Given the description of an element on the screen output the (x, y) to click on. 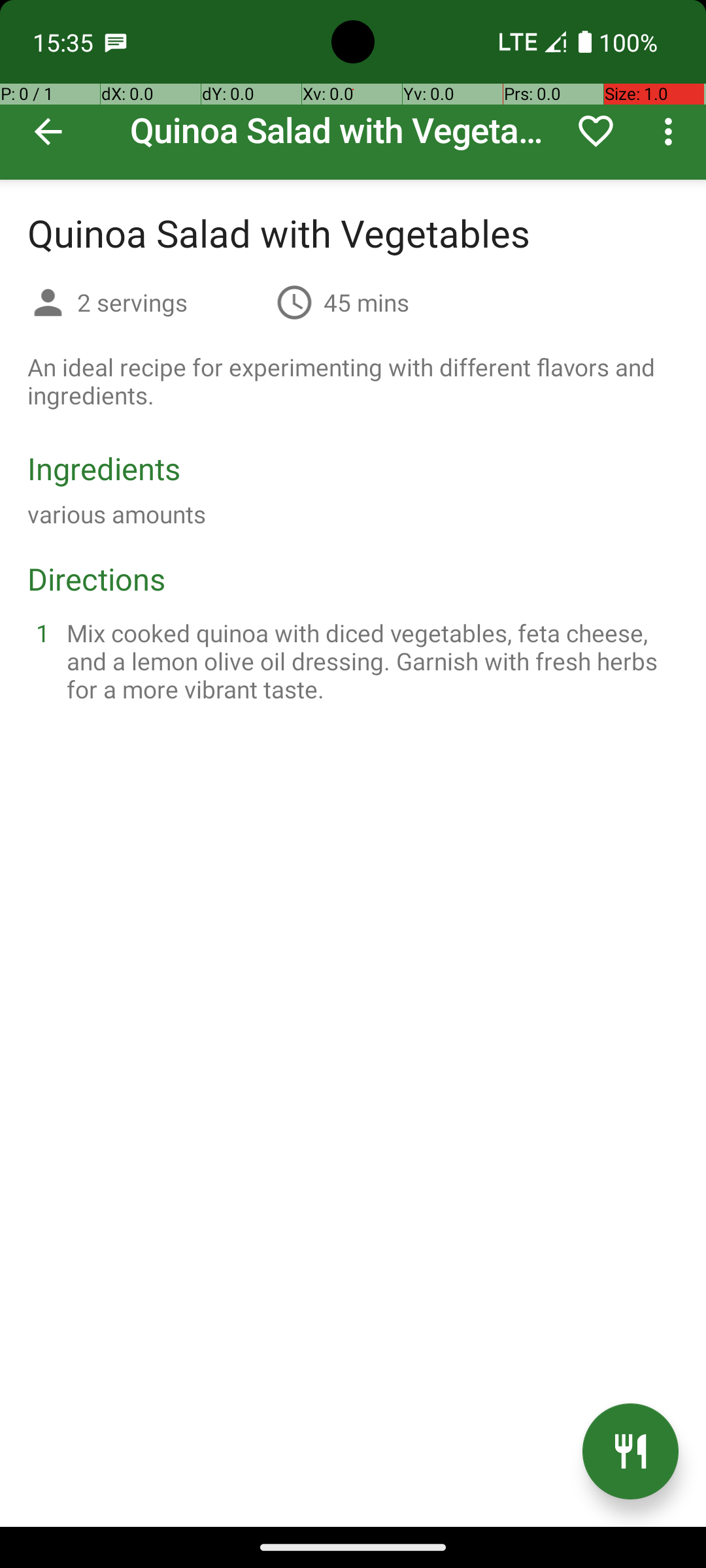
Mix cooked quinoa with diced vegetables, feta cheese, and a lemon olive oil dressing. Garnish with fresh herbs for a more vibrant taste. Element type: android.widget.TextView (368, 660)
